Given the description of an element on the screen output the (x, y) to click on. 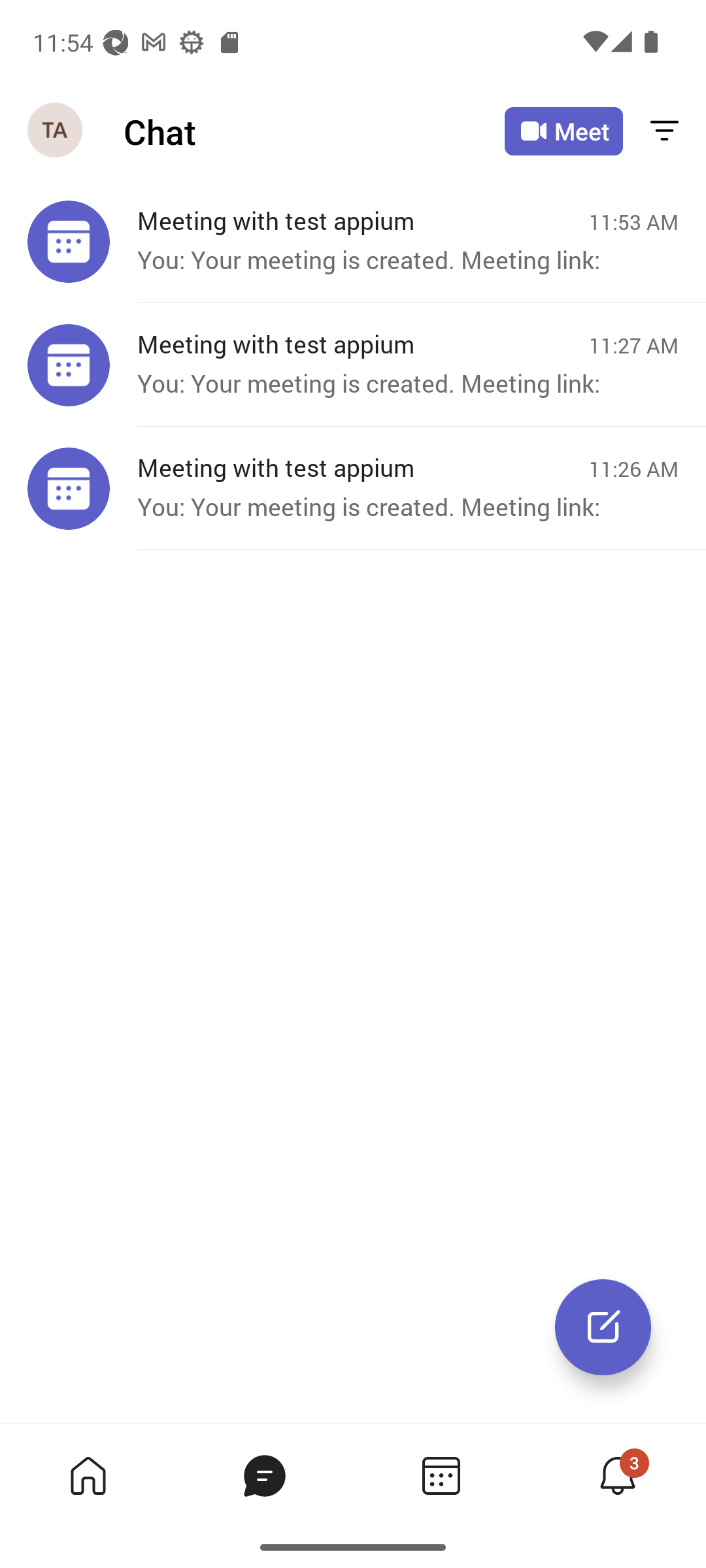
Filter chat messages (664, 131)
Navigation (56, 130)
Meet Meet now or join with an ID (563, 130)
New chat (602, 1327)
Home tab,1 of 4, not selected (88, 1475)
Chat tab, 2 of 4 (264, 1475)
Calendar tab,3 of 4, not selected (441, 1475)
Activity tab,4 of 4, not selected, 3 new 3 (617, 1475)
